Given the description of an element on the screen output the (x, y) to click on. 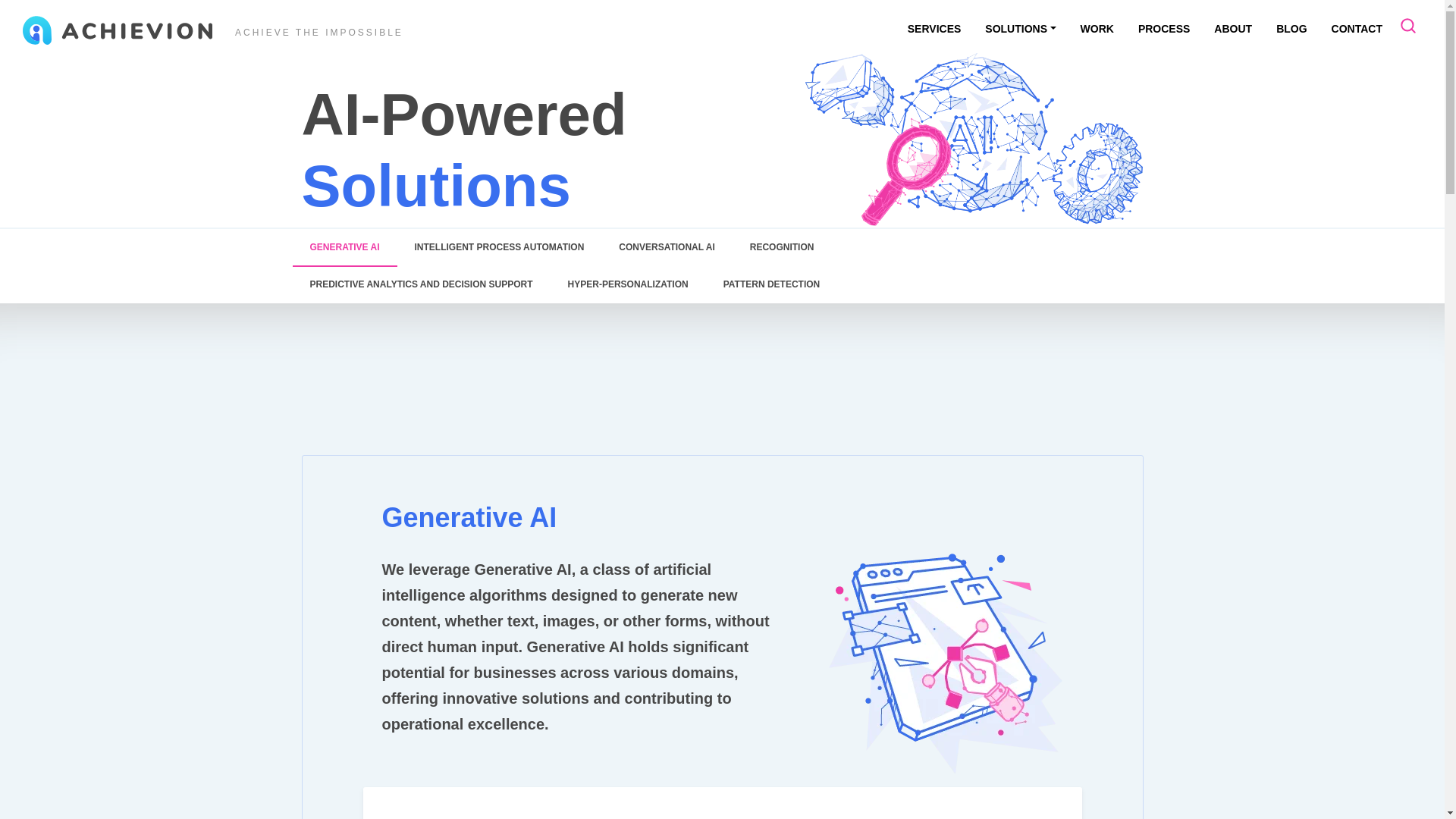
Work (1096, 29)
CONTACT (1356, 29)
CONVERSATIONAL AI (666, 247)
About (1232, 29)
Blog (1291, 29)
Solutions (1019, 29)
SOLUTIONS (1019, 29)
PREDICTIVE ANALYTICS AND DECISION SUPPORT (421, 284)
GENERATIVE AI (344, 247)
BLOG (1291, 29)
